Given the description of an element on the screen output the (x, y) to click on. 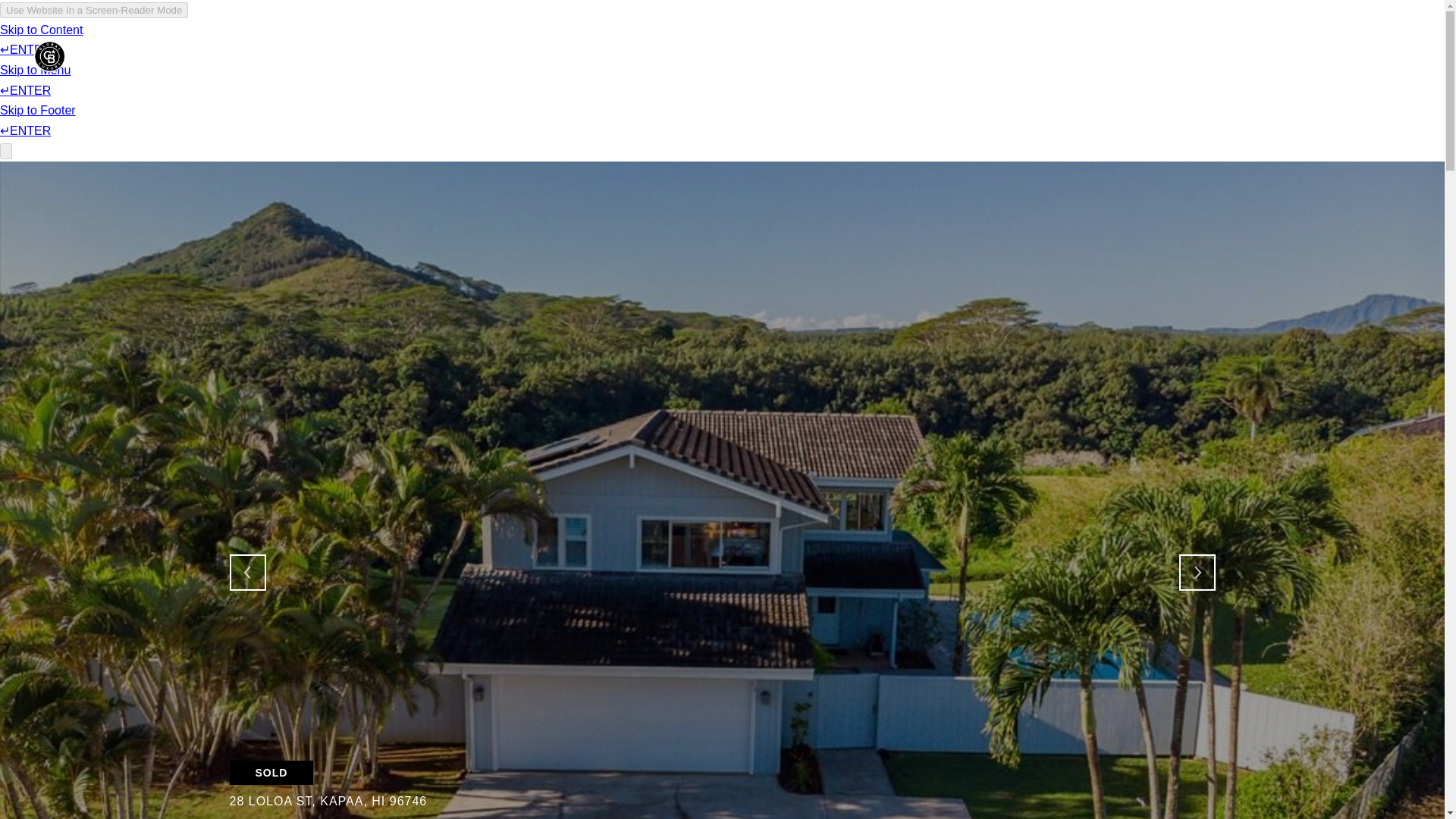
PROPERTIES (872, 55)
Previous (246, 572)
LET'S CONNECT (1222, 55)
Next (1195, 572)
HOME SEARCH (973, 55)
KAUAI REAL ESTATE (1096, 55)
